Given the description of an element on the screen output the (x, y) to click on. 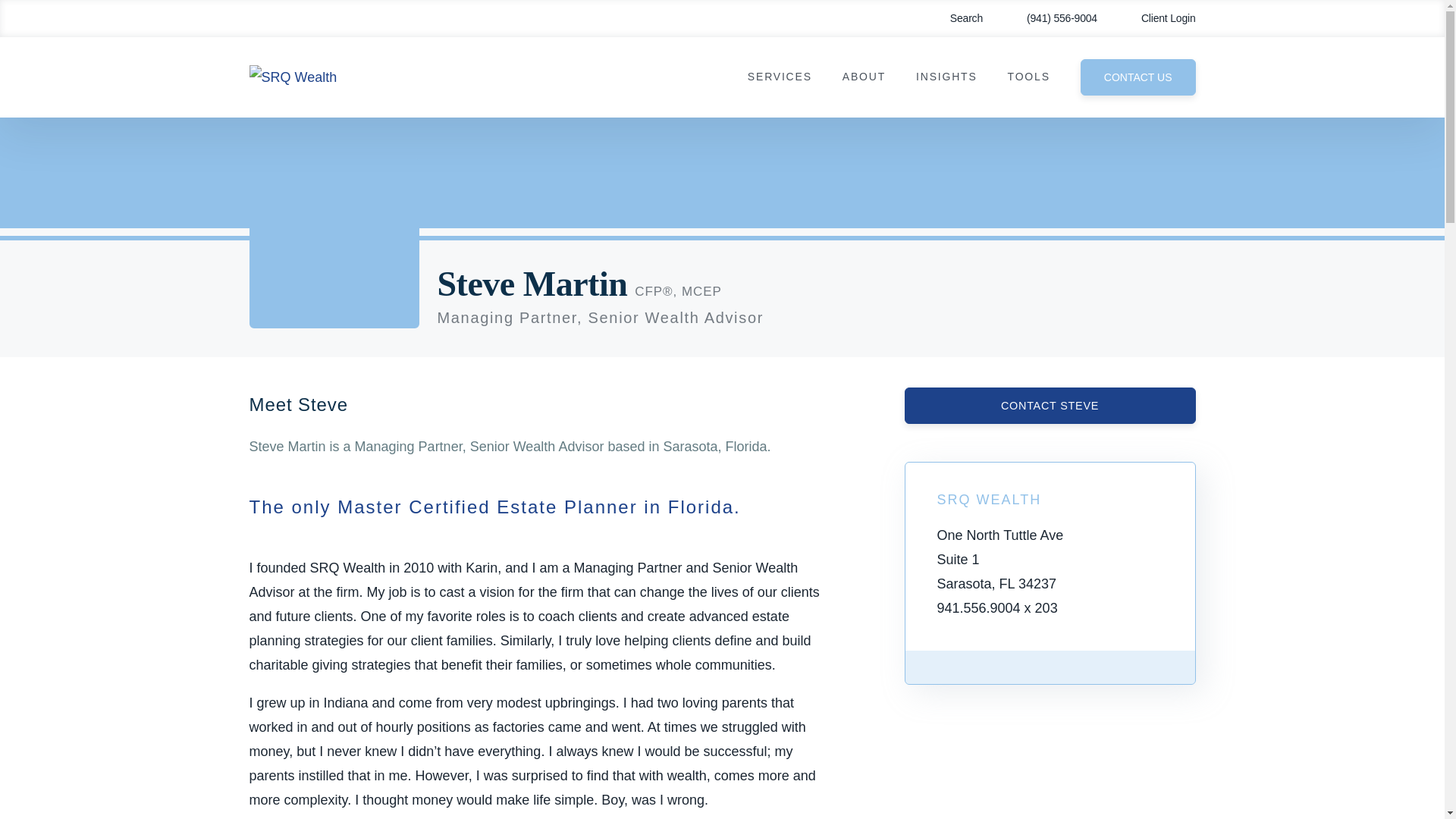
Search (955, 18)
Client Login (1157, 18)
INSIGHTS (945, 77)
CONTACT US (1137, 76)
TOOLS (1028, 77)
ABOUT (864, 77)
SERVICES (780, 77)
